Given the description of an element on the screen output the (x, y) to click on. 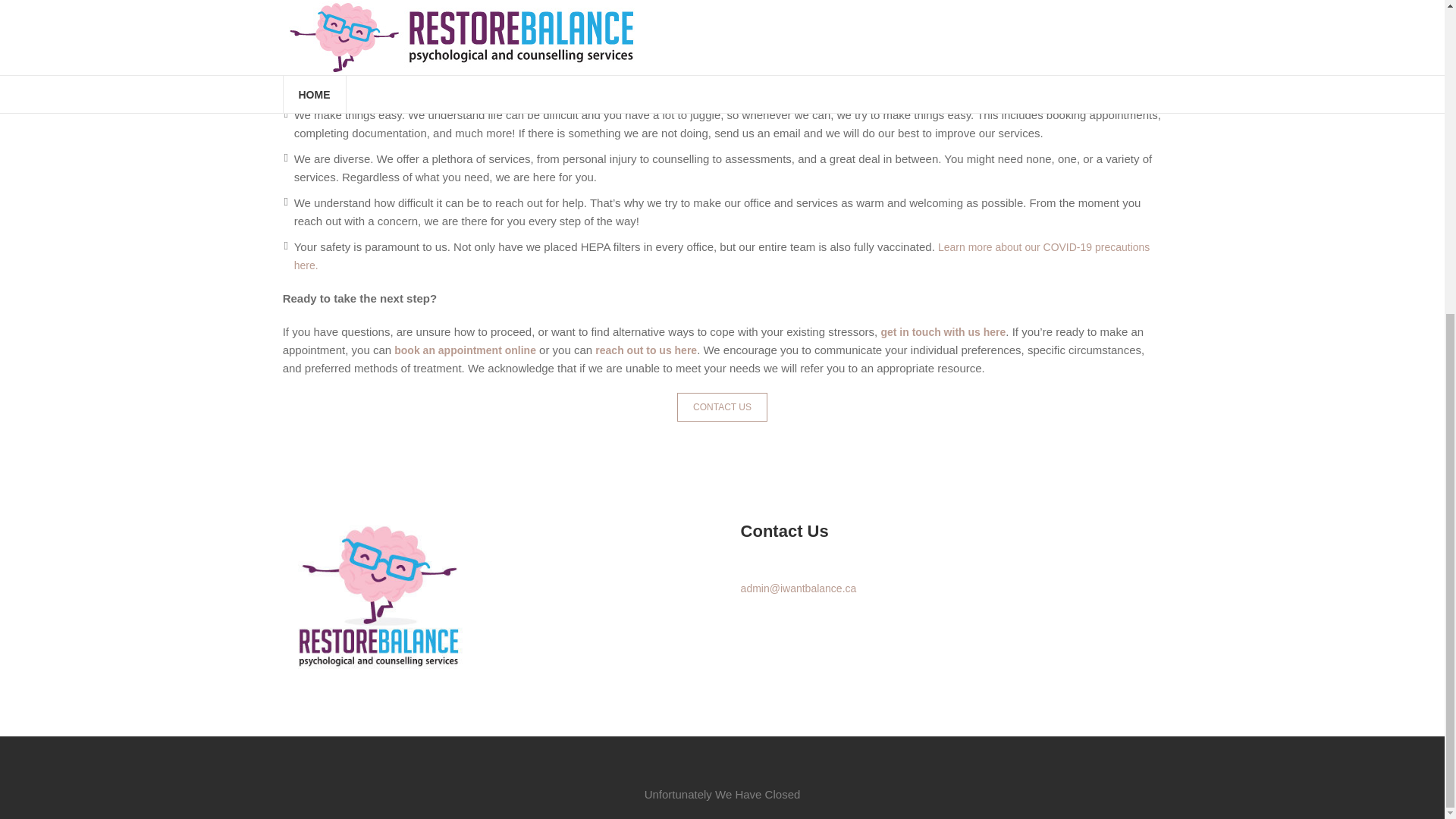
Learn more about our COVID-19 precautions here.  (722, 255)
get in touch with us here (943, 331)
reach out to us here (646, 349)
CONTACT US (722, 407)
book an appointment online (464, 349)
